Given the description of an element on the screen output the (x, y) to click on. 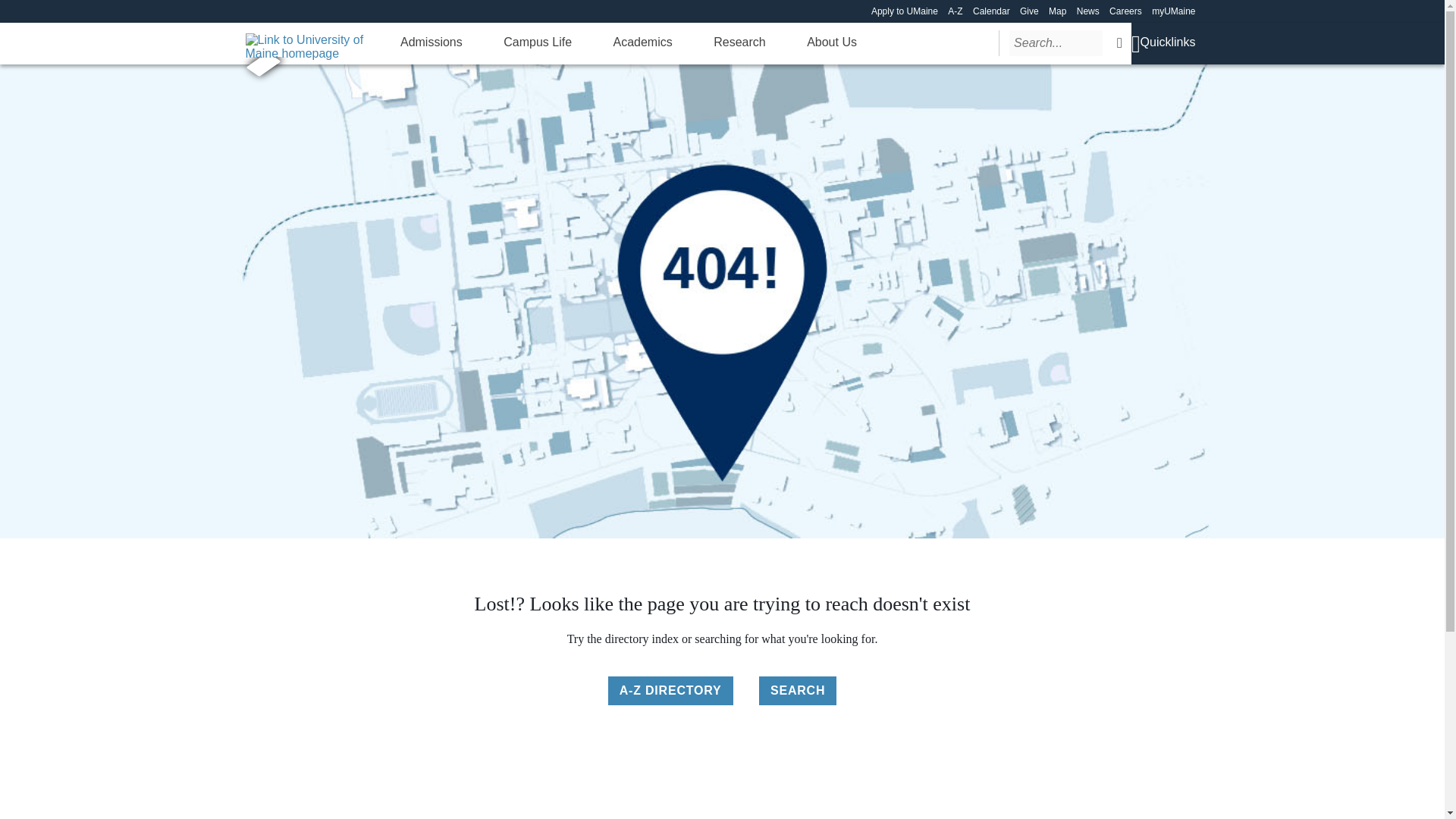
News (1088, 10)
Map (1056, 10)
Search for: (1055, 43)
Give (1029, 10)
Campus Life (537, 42)
A-Z (954, 10)
Careers (1125, 10)
Admissions (431, 42)
myUMaine (1173, 10)
Apply to UMaine (903, 10)
